Given the description of an element on the screen output the (x, y) to click on. 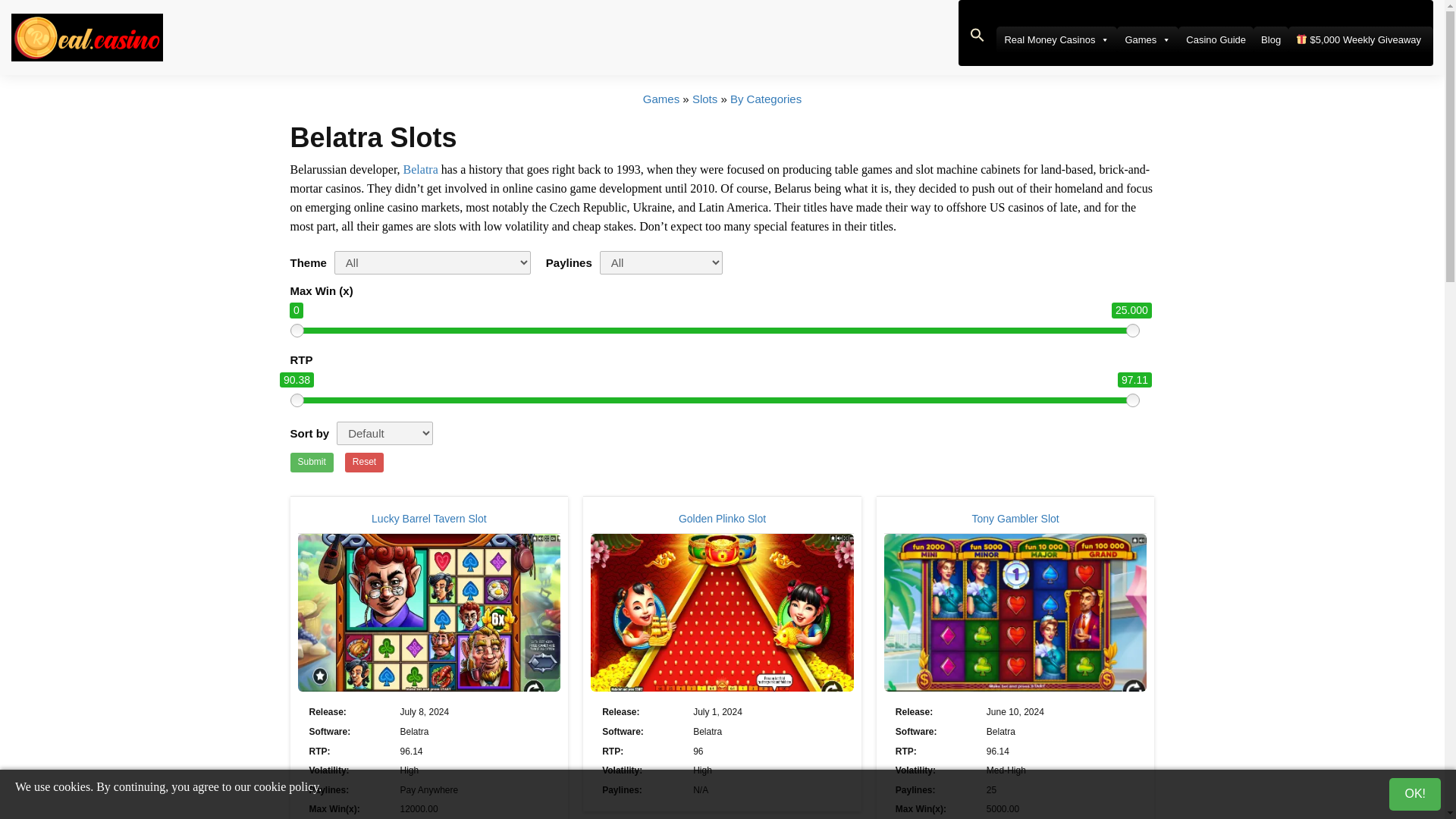
Online Slots (705, 98)
Games (1146, 39)
Online Casino Games (661, 98)
Online Slots by Categories (766, 98)
Real Money Casinos (1055, 39)
